Given the description of an element on the screen output the (x, y) to click on. 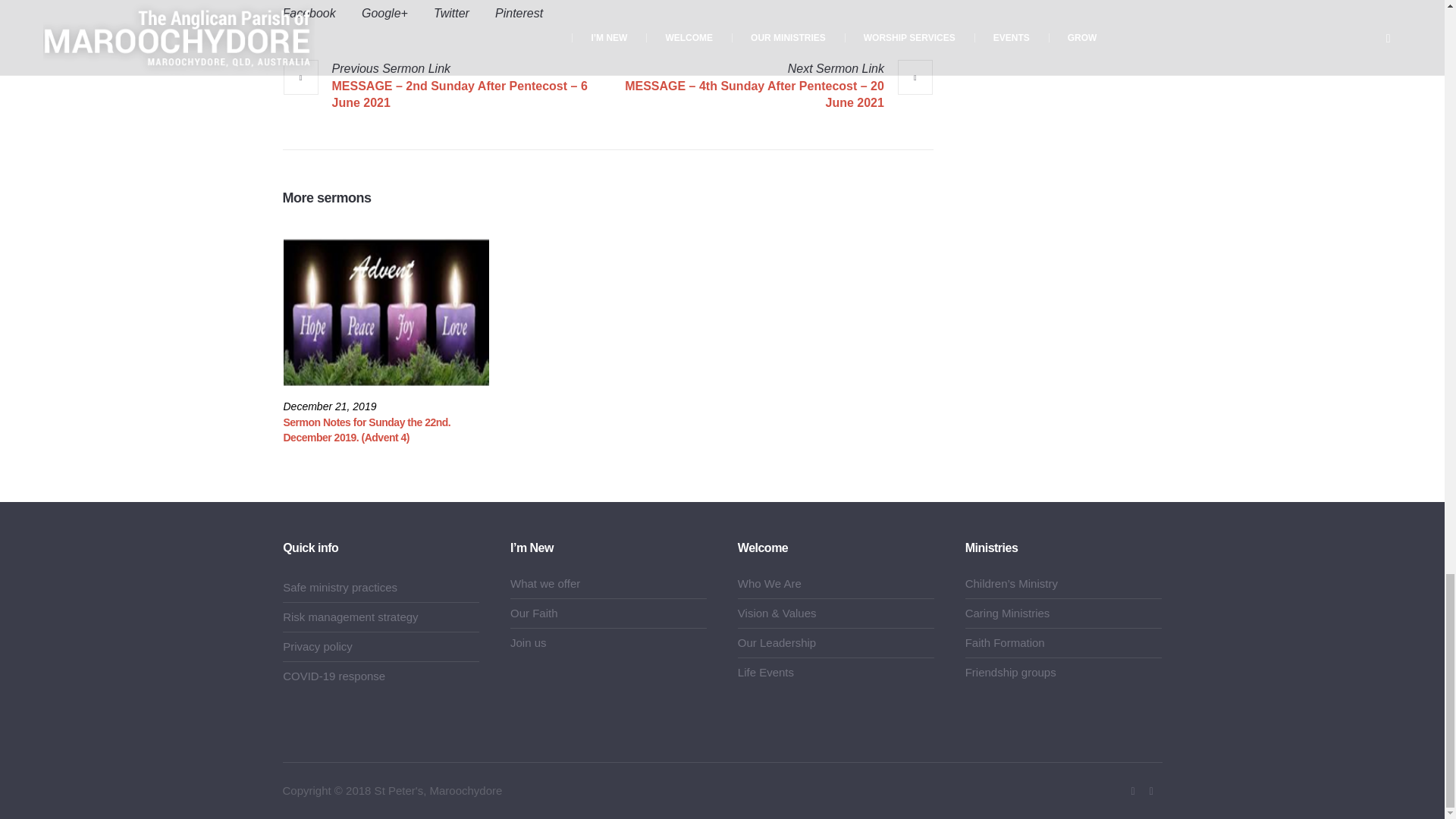
Contact (1150, 791)
December 21, 2019 (330, 406)
Facebook (1132, 791)
